Given the description of an element on the screen output the (x, y) to click on. 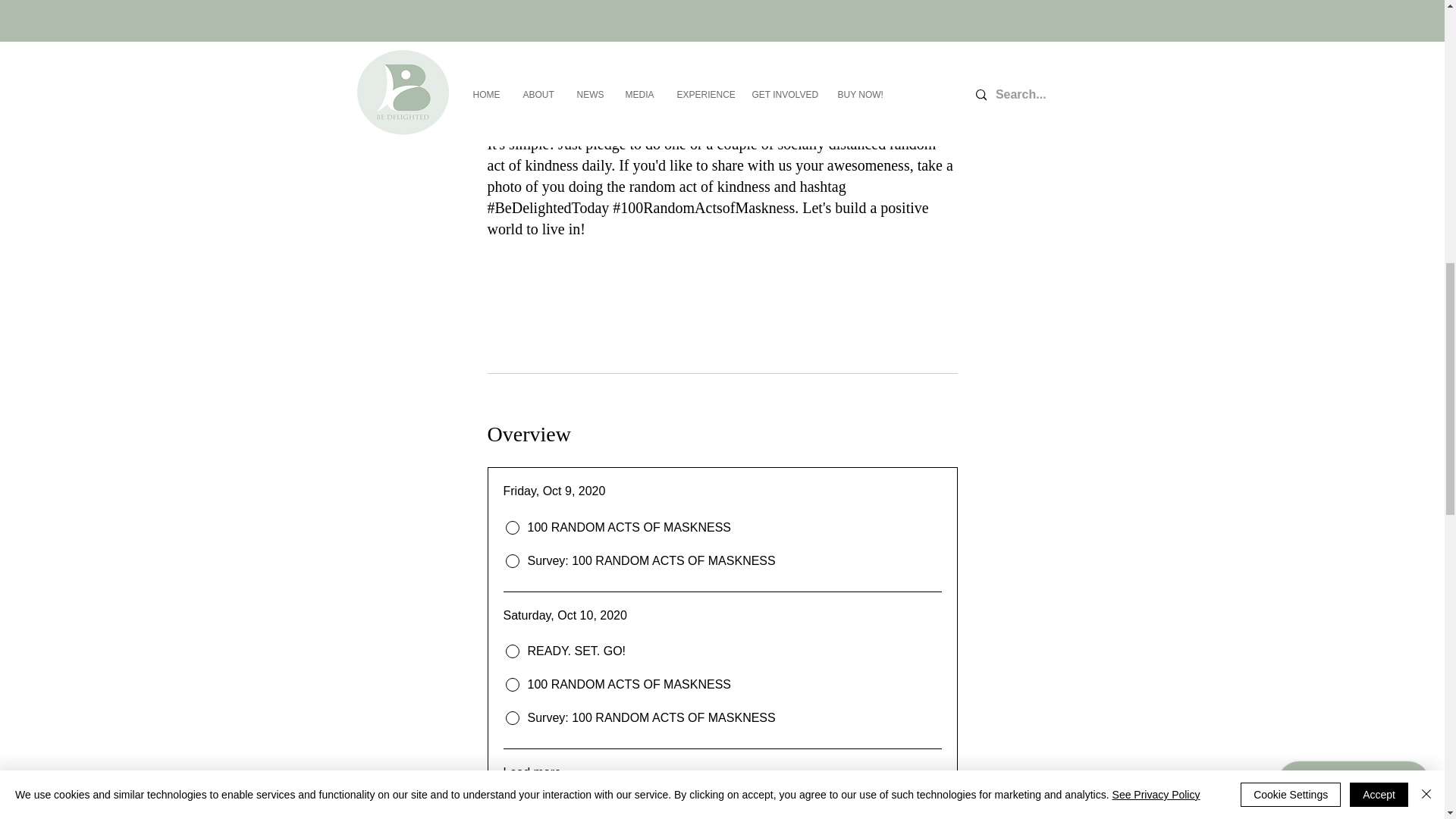
Load more (532, 772)
Friday, Oct 9, 2020 (722, 491)
Saturday, Oct 10, 2020 (722, 615)
